Given the description of an element on the screen output the (x, y) to click on. 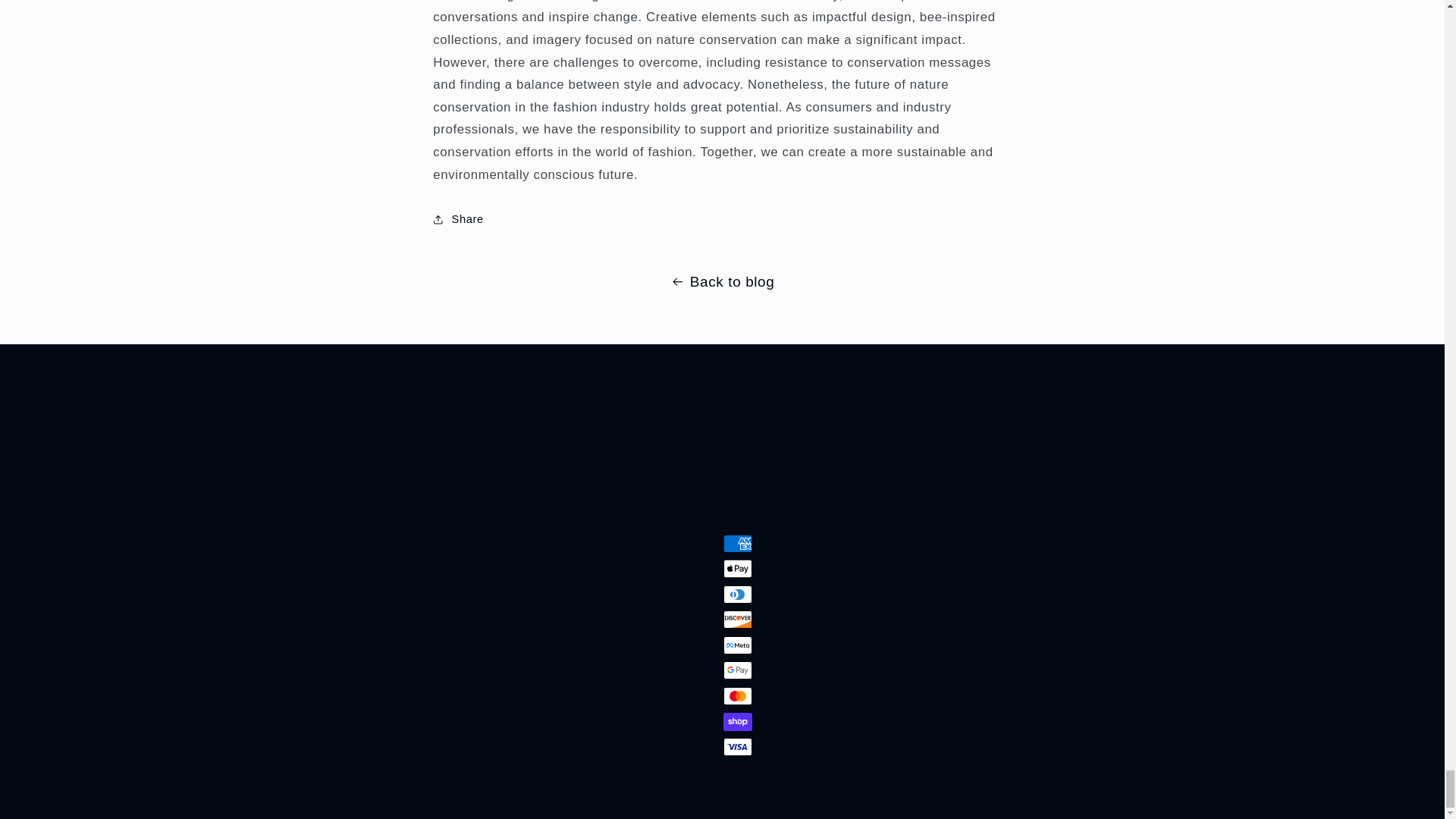
Google Pay (737, 669)
Discover (737, 619)
Mastercard (737, 696)
Diners Club (737, 594)
Apple Pay (737, 568)
Visa (737, 746)
Shop Pay (737, 721)
American Express (737, 543)
Meta Pay (737, 645)
